Given the description of an element on the screen output the (x, y) to click on. 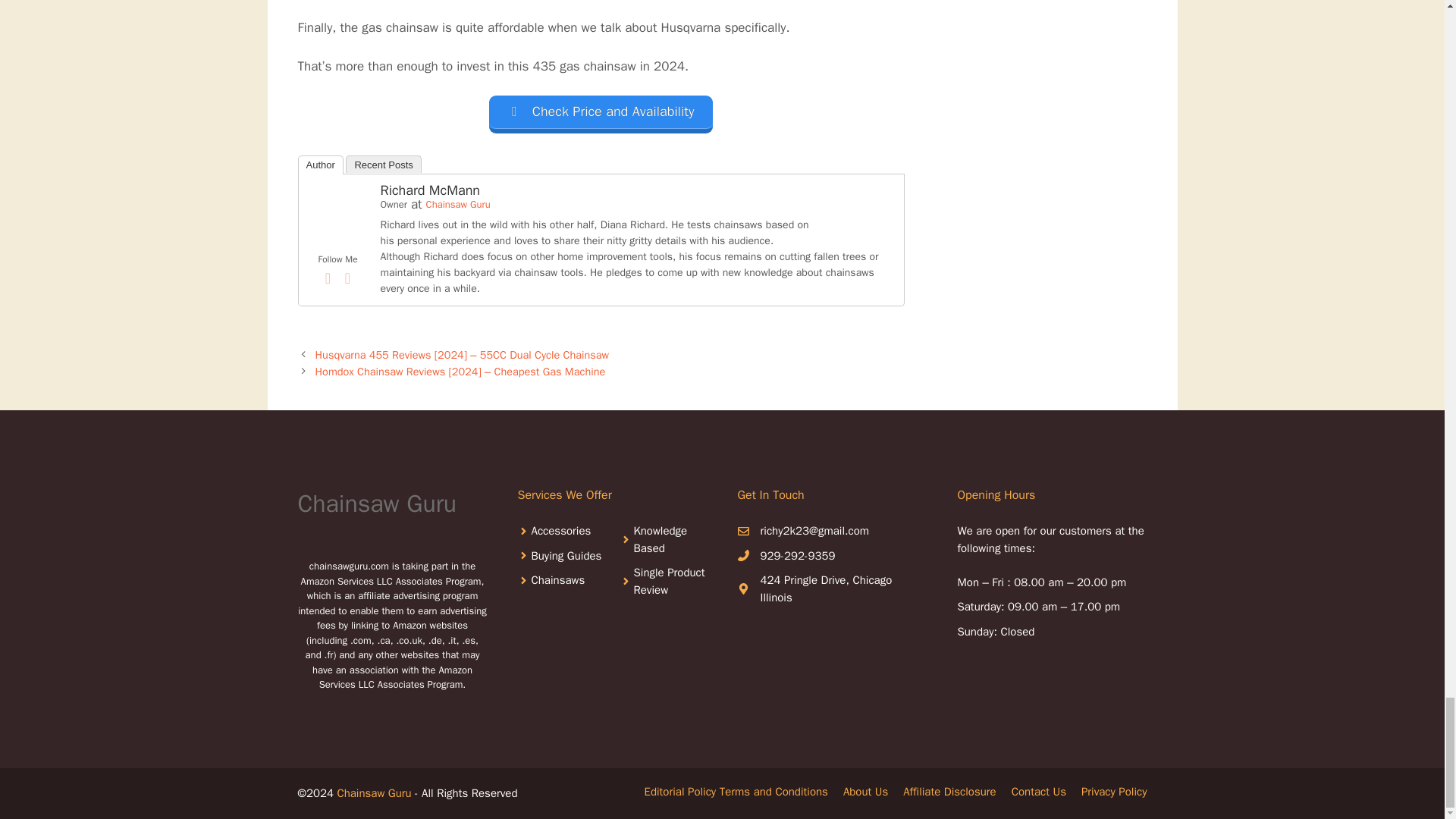
Facebook (327, 278)
Twitter (346, 278)
Richard McMann (337, 239)
